Given the description of an element on the screen output the (x, y) to click on. 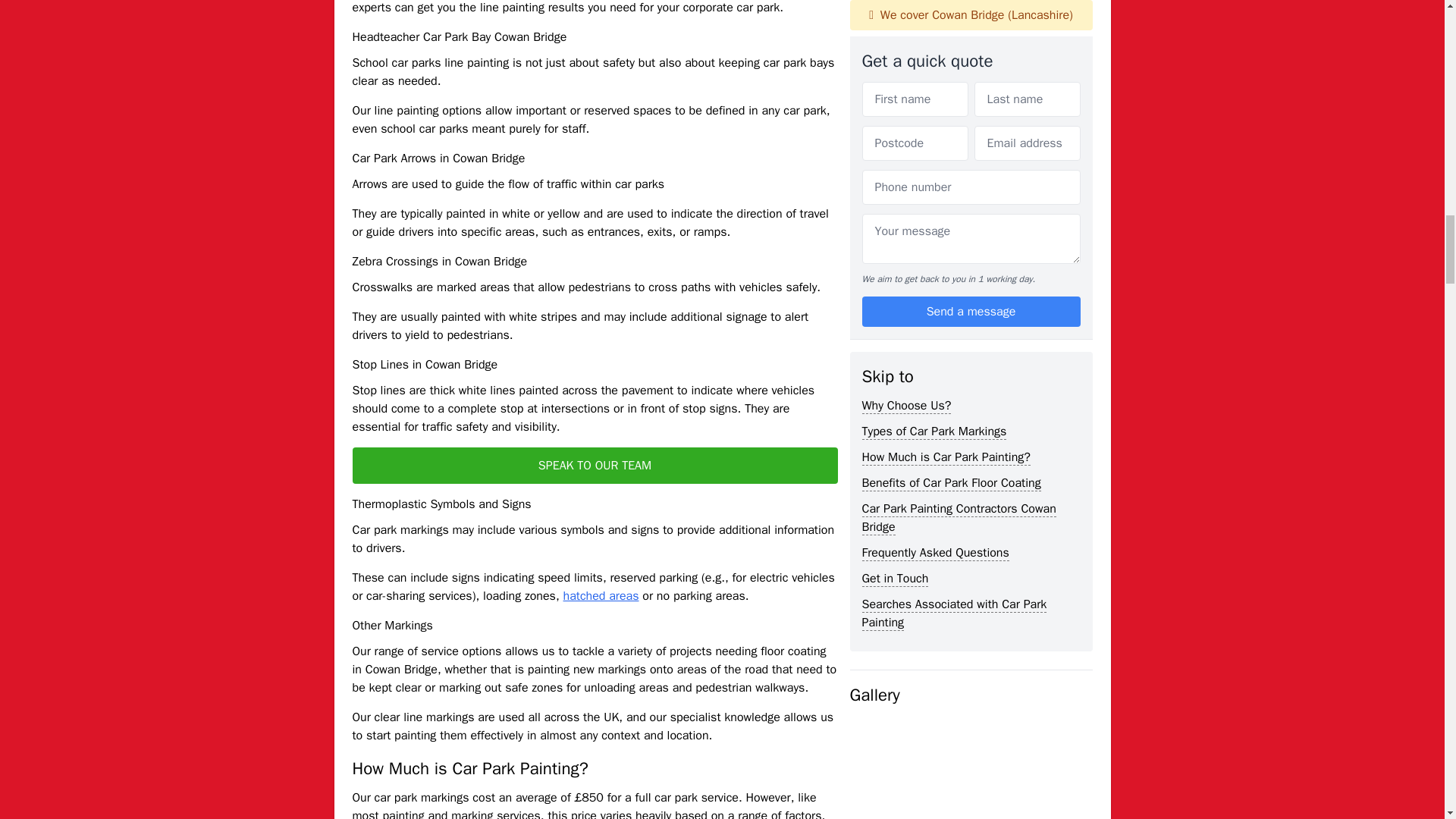
SPEAK TO OUR TEAM (594, 465)
hatched areas (601, 595)
